Given the description of an element on the screen output the (x, y) to click on. 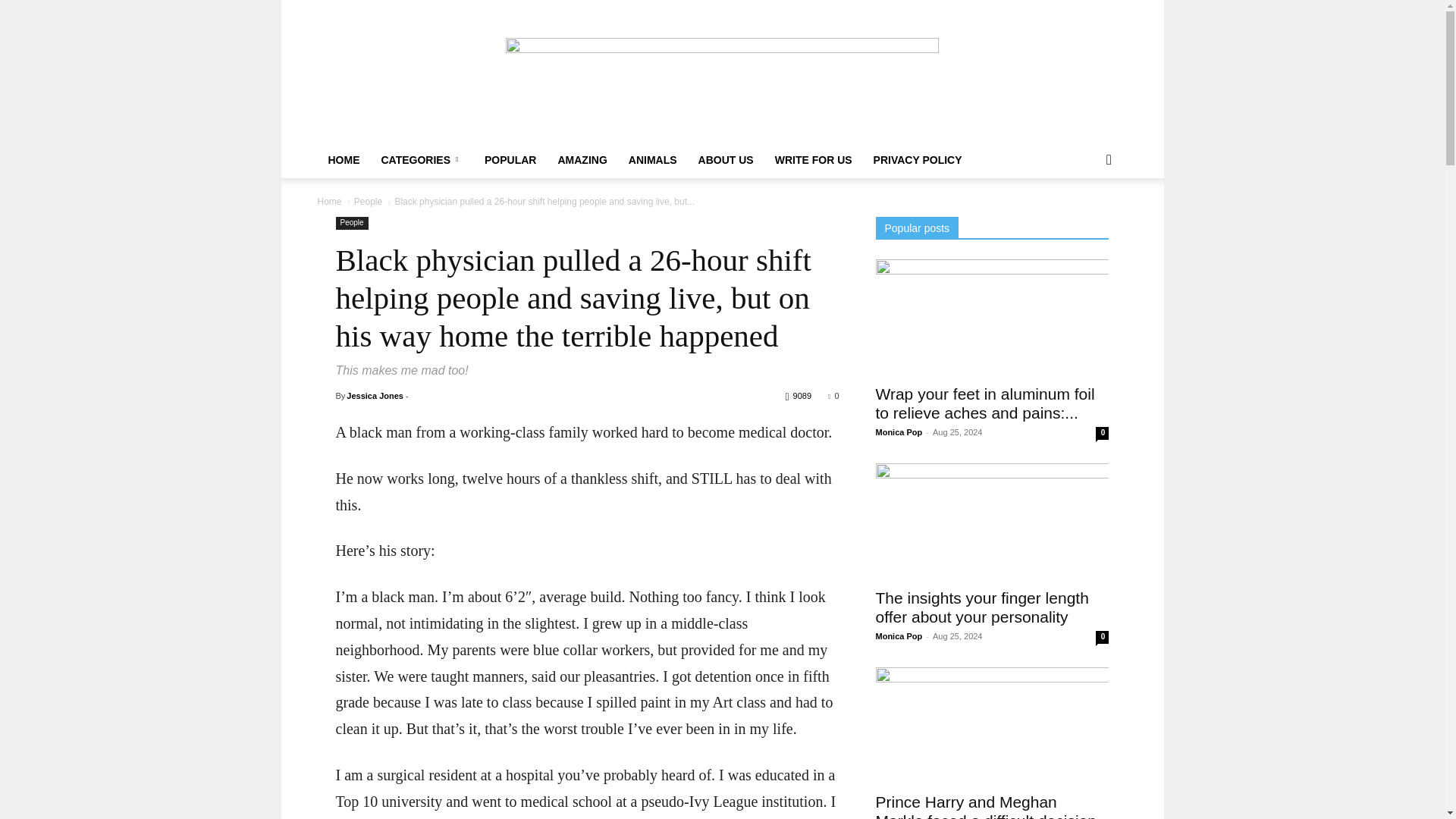
CATEGORIES (421, 159)
Bored Daddy (722, 70)
HOME (343, 159)
View all posts in People (367, 201)
